Given the description of an element on the screen output the (x, y) to click on. 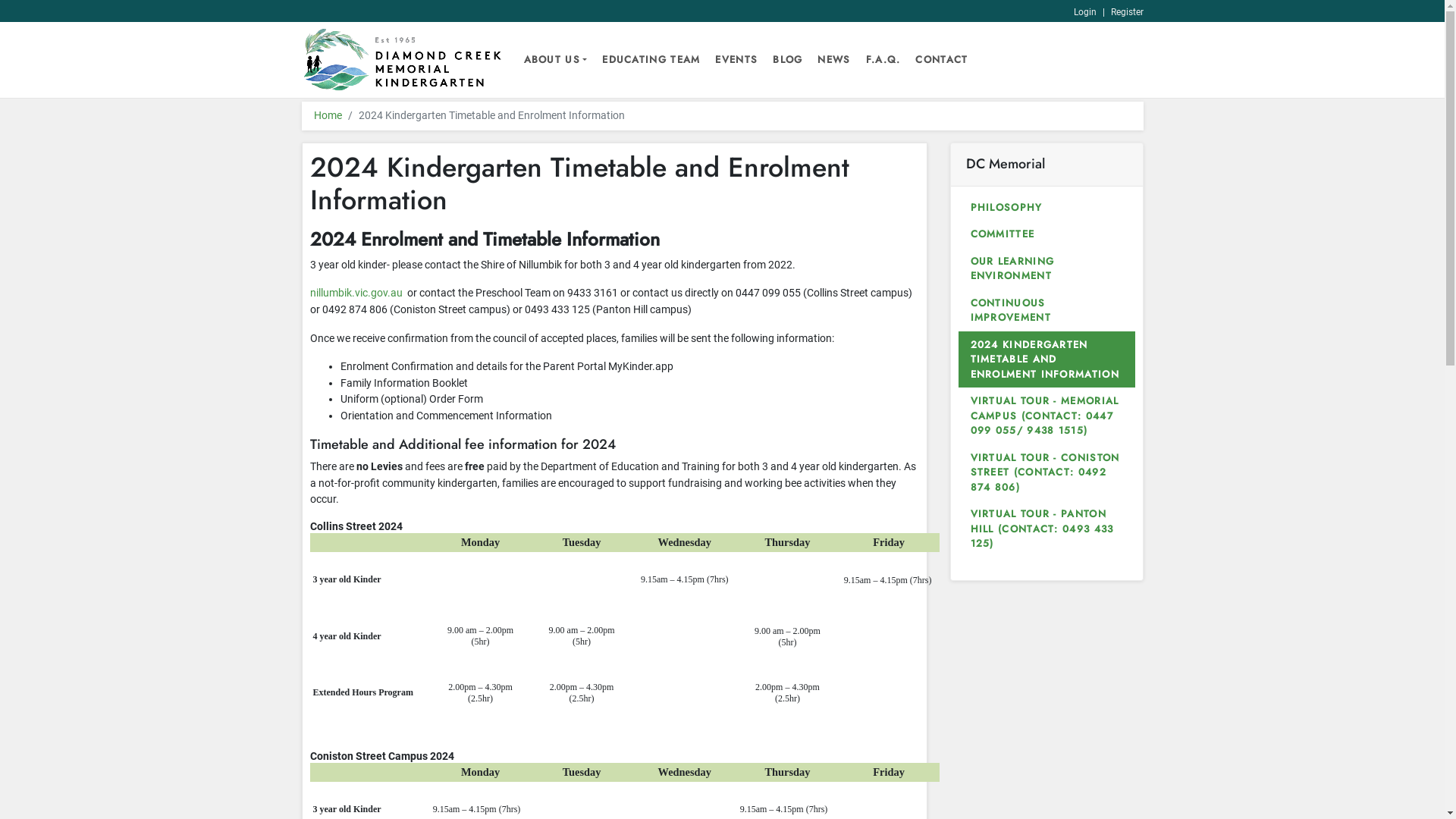
Home Element type: text (327, 115)
CONTACT Element type: text (941, 59)
OUR LEARNING ENVIRONMENT Element type: text (1046, 268)
BLOG Element type: text (787, 59)
Login Element type: text (1084, 11)
Register Element type: text (1126, 11)
EDUCATING TEAM Element type: text (650, 59)
nillumbik.vic.gov.au Element type: text (355, 292)
2024 KINDERGARTEN TIMETABLE AND ENROLMENT INFORMATION Element type: text (1046, 359)
F.A.Q. Element type: text (883, 59)
CONTINUOUS IMPROVEMENT Element type: text (1046, 310)
PHILOSOPHY Element type: text (1046, 207)
VIRTUAL TOUR - PANTON HILL (CONTACT: 0493 433 125) Element type: text (1046, 528)
VIRTUAL TOUR - CONISTON STREET (CONTACT: 0492 874 806) Element type: text (1046, 472)
ABOUT US Element type: text (554, 59)
EVENTS Element type: text (736, 59)
DC Memorial Kindergarten - go to homepage Element type: text (402, 59)
COMMITTEE Element type: text (1046, 233)
NEWS Element type: text (833, 59)
